Given the description of an element on the screen output the (x, y) to click on. 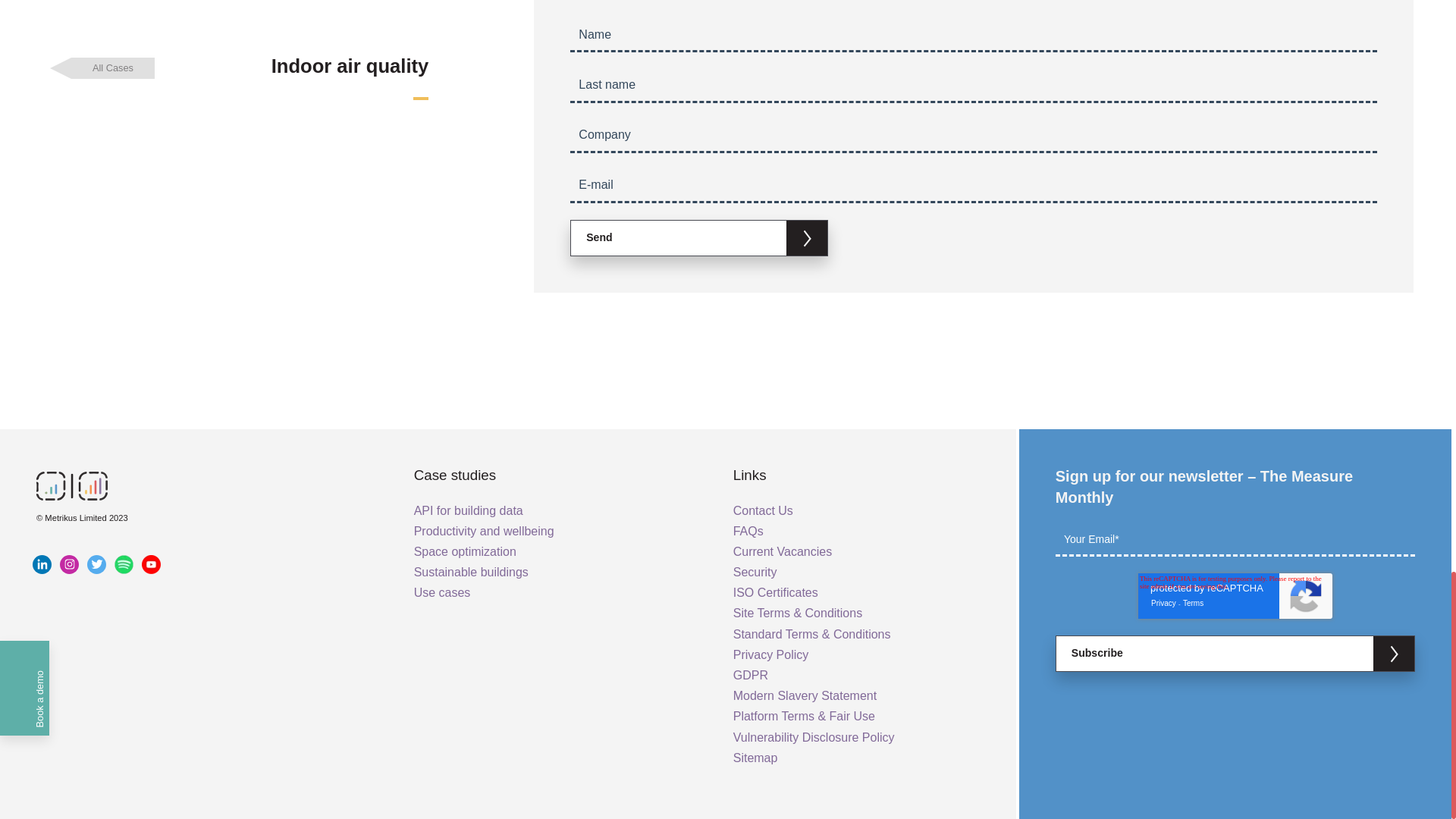
Space optimization (464, 551)
Send (699, 237)
Send (699, 237)
reCAPTCHA (1235, 596)
Productivity and wellbeing (483, 530)
Use cases (441, 592)
API for building data (467, 509)
Subscribe (1235, 652)
Sustainable buildings (470, 571)
Contact Us (763, 509)
